Given the description of an element on the screen output the (x, y) to click on. 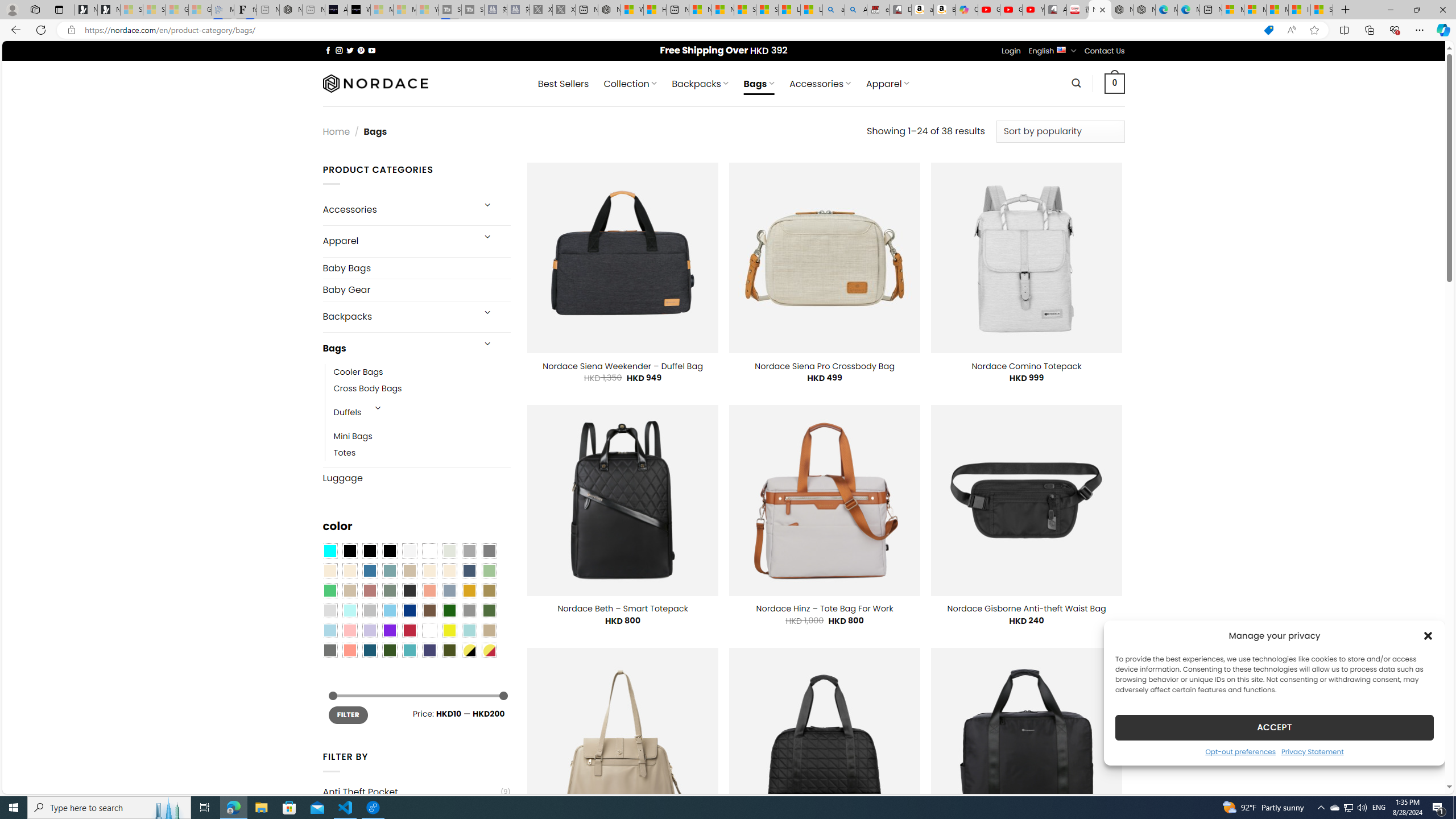
Black-Brown (389, 550)
Search (1076, 83)
Streaming Coverage | T3 - Sleeping (449, 9)
Ash Gray (449, 550)
Purple Navy (429, 649)
Silver (369, 610)
AI Voice Changer for PC and Mac - Voice.ai (336, 9)
Nordace - Bags (1099, 9)
